Given the description of an element on the screen output the (x, y) to click on. 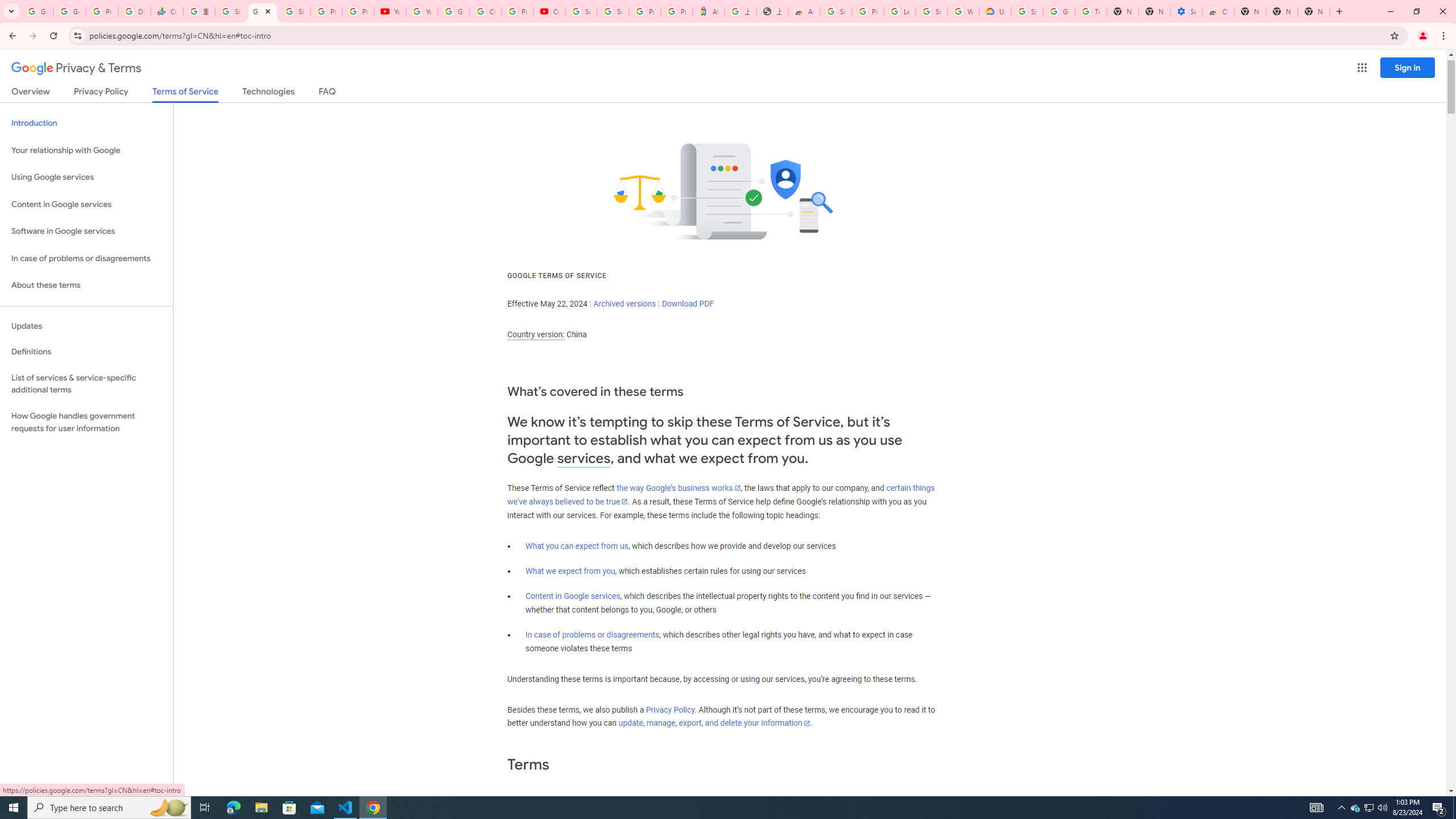
Chrome Web Store - Accessibility extensions (1217, 11)
Sign in - Google Accounts (613, 11)
Content Creator Programs & Opportunities - YouTube Creators (549, 11)
Content in Google services (572, 596)
